Given the description of an element on the screen output the (x, y) to click on. 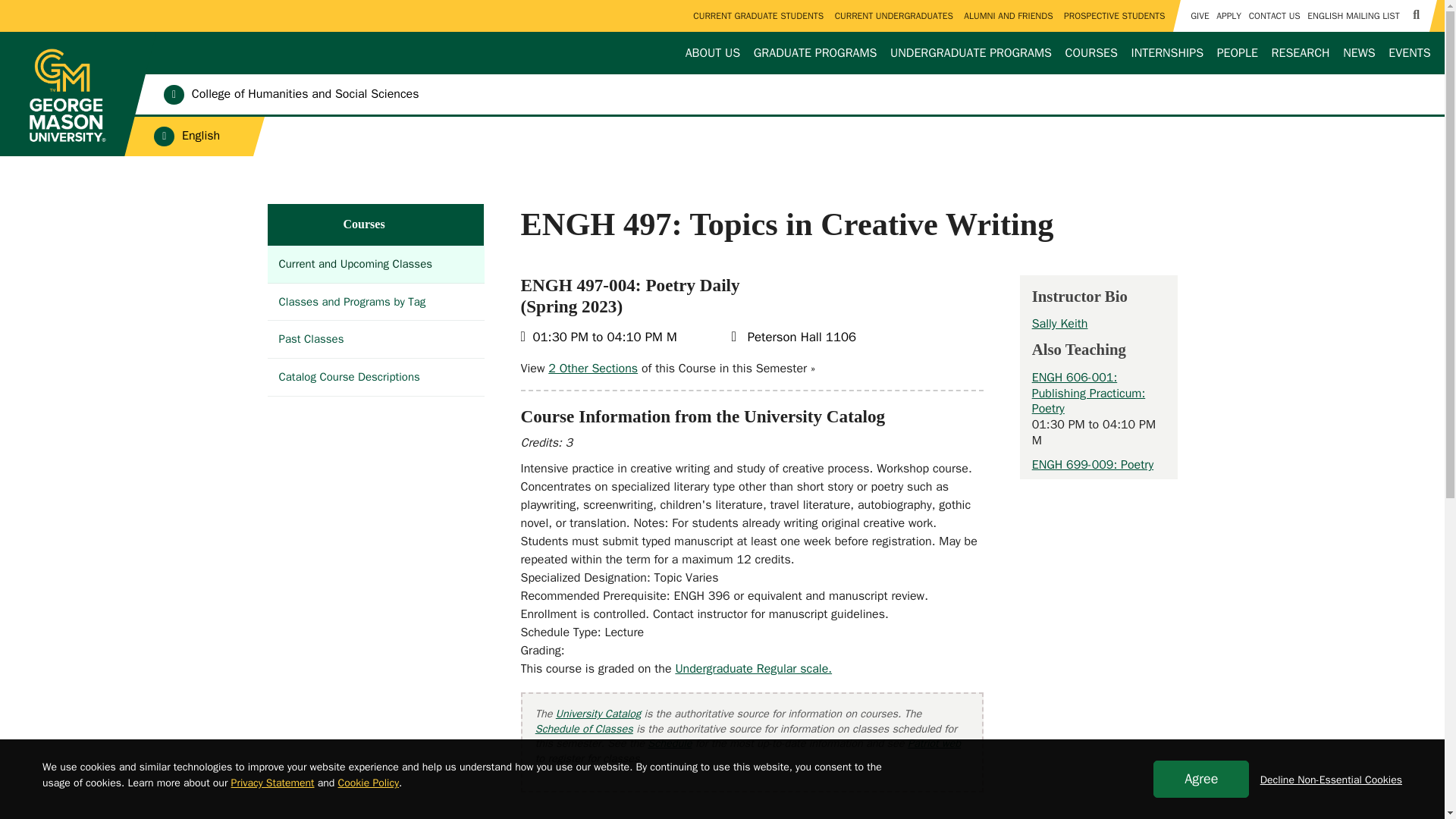
People (1236, 52)
Graduate Programs (815, 52)
News (1359, 52)
UNDERGRADUATE PROGRAMS (971, 52)
George Mason University Privacy Statement (272, 782)
Current Graduate Students (759, 15)
About Us (711, 52)
Prospective Students (1114, 15)
Cookie Policy (367, 782)
Courses (1090, 52)
